Given the description of an element on the screen output the (x, y) to click on. 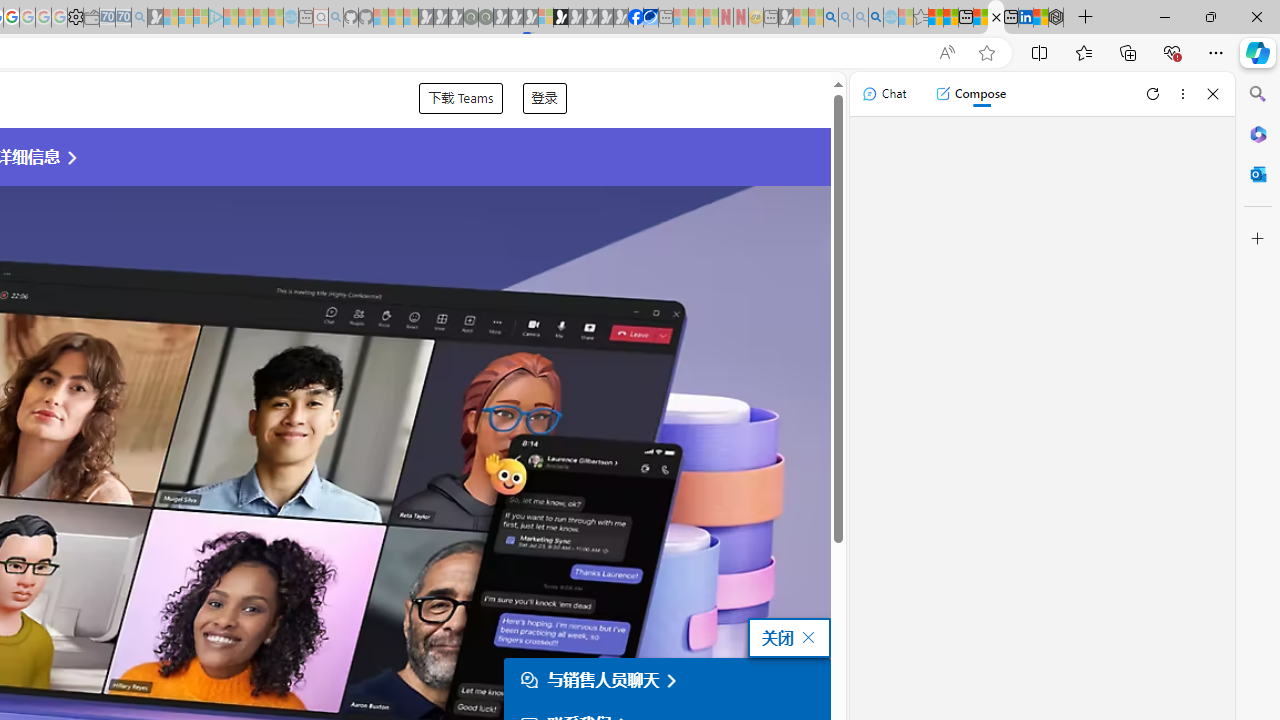
Aberdeen, Hong Kong SAR weather forecast | Microsoft Weather (950, 17)
Chat (884, 93)
New tab - Sleeping (771, 17)
